Given the description of an element on the screen output the (x, y) to click on. 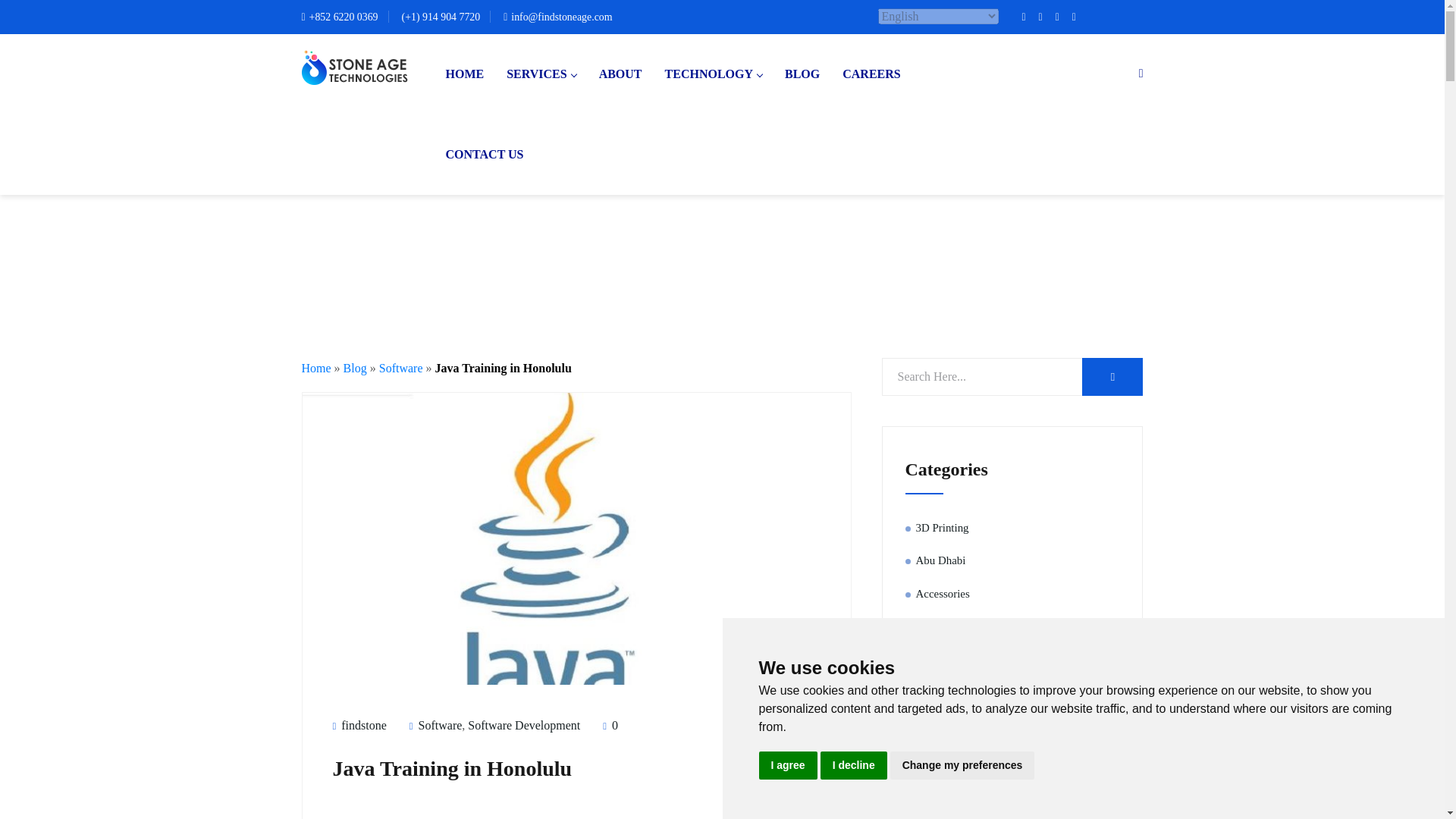
I decline (853, 765)
Change my preferences (962, 765)
I agree (787, 765)
